Given the description of an element on the screen output the (x, y) to click on. 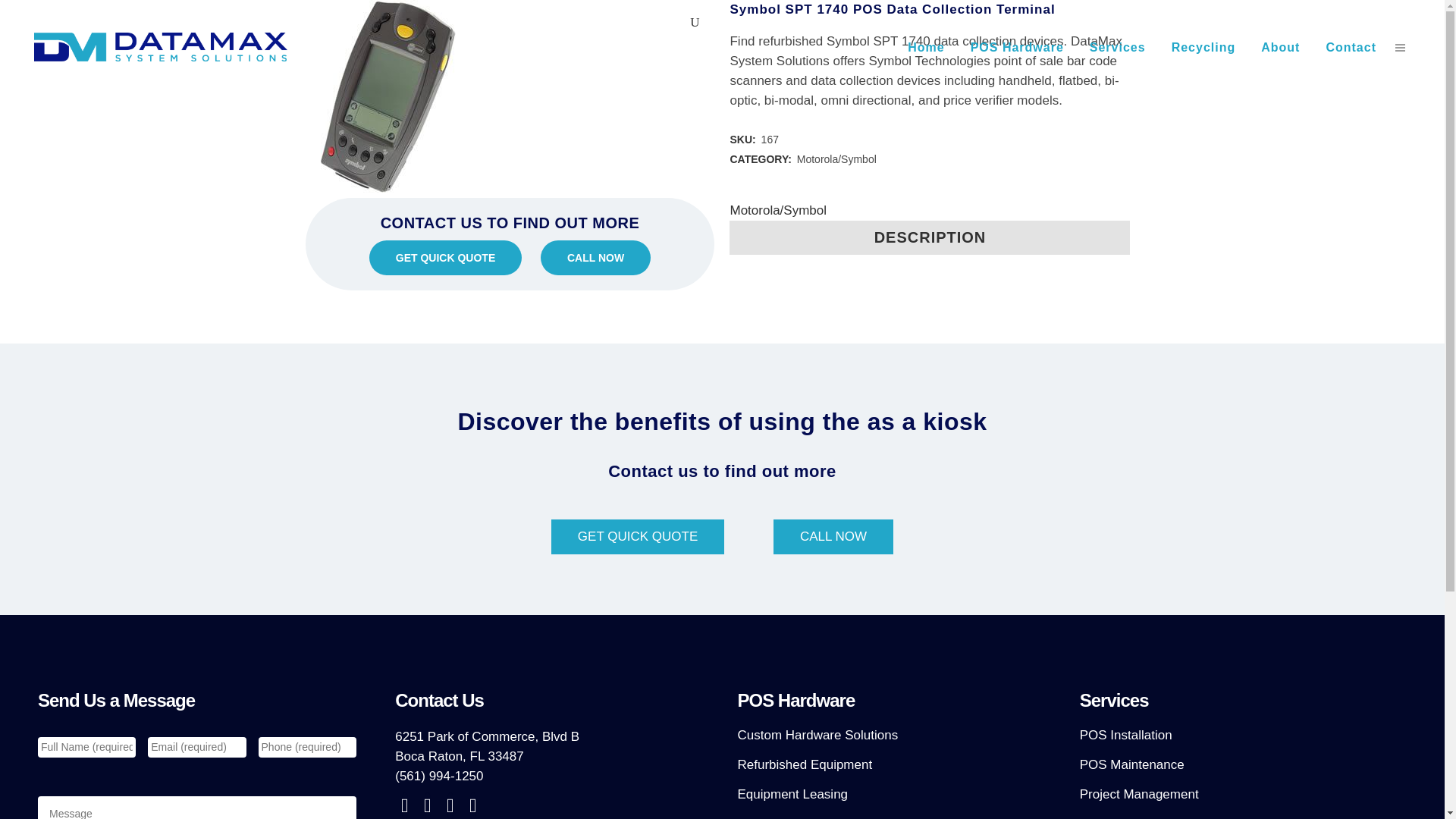
Recycling (1203, 47)
View brand (778, 210)
POS Hardware (1017, 47)
